Given the description of an element on the screen output the (x, y) to click on. 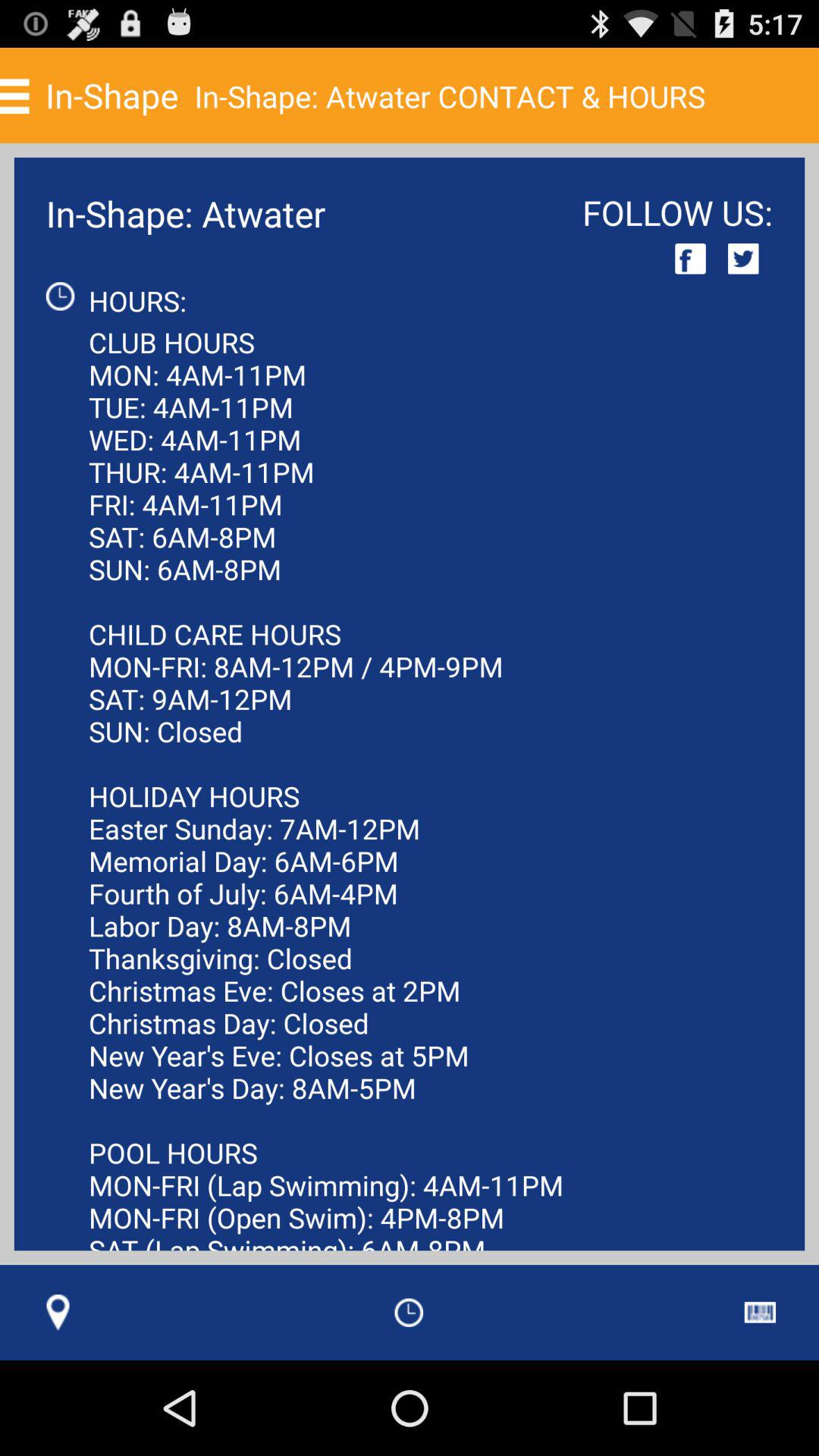
launch the icon to the right of in-shape: atwater item (690, 258)
